Given the description of an element on the screen output the (x, y) to click on. 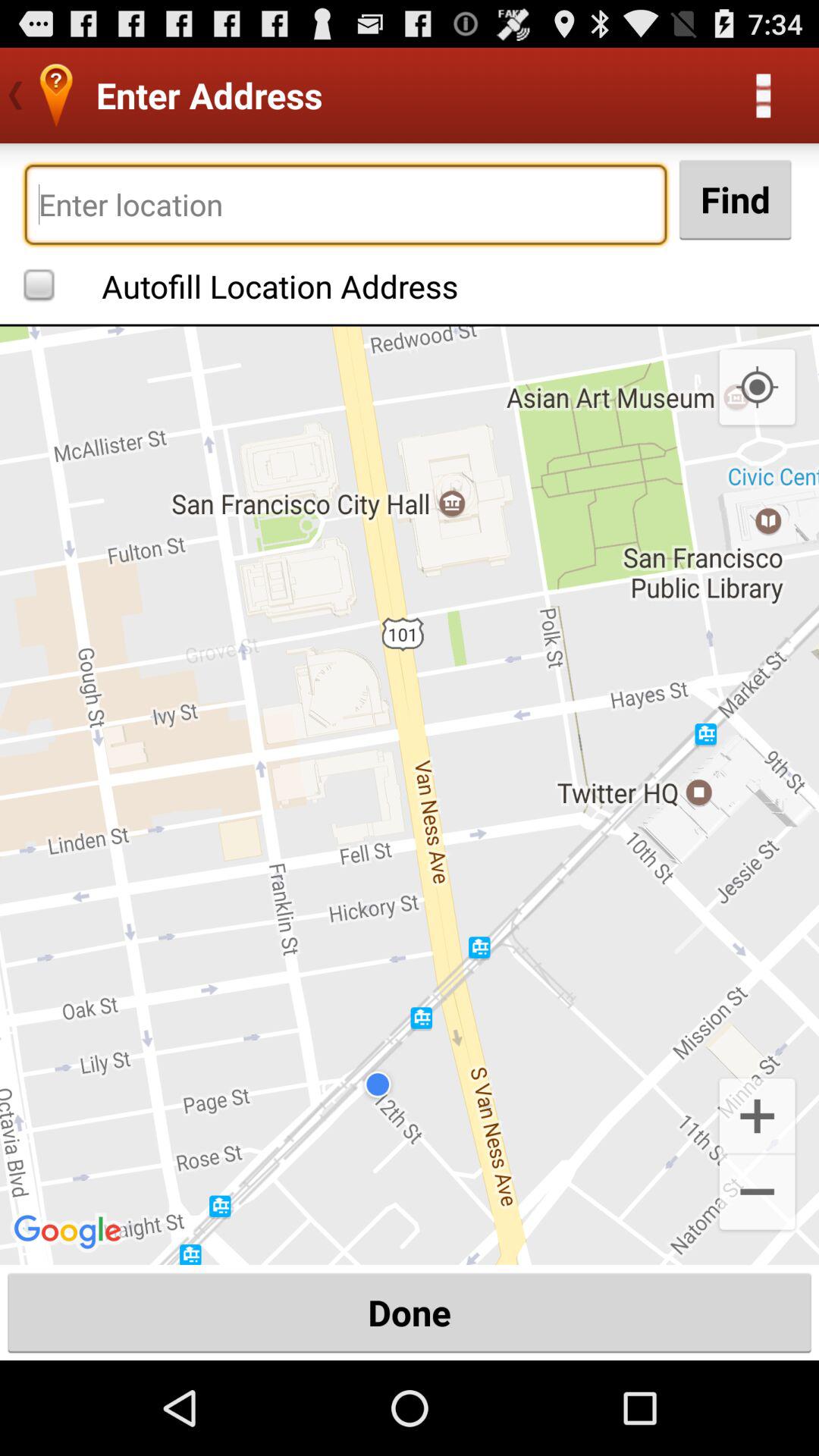
enter location (345, 204)
